Given the description of an element on the screen output the (x, y) to click on. 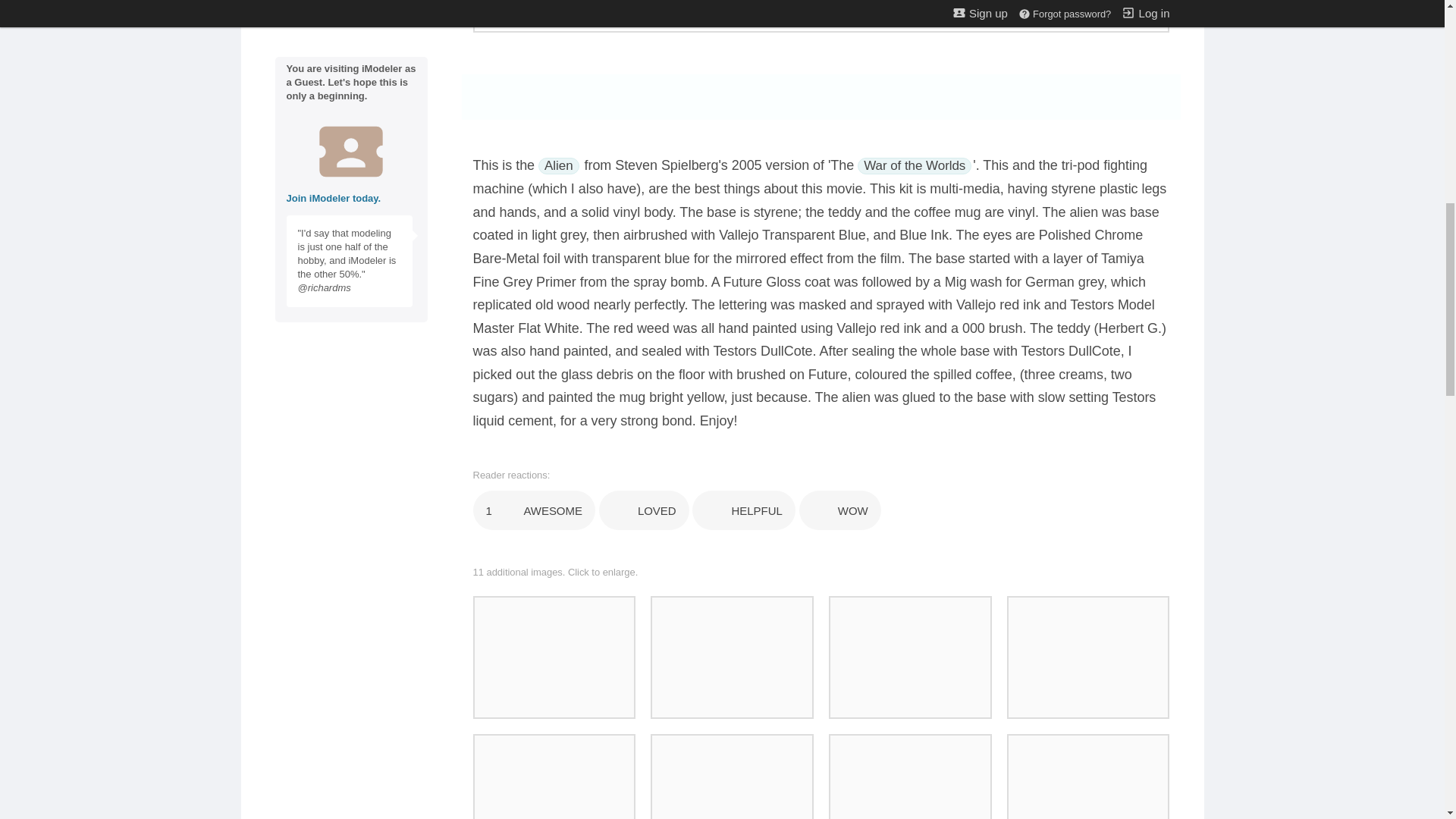
1  AWESOME (534, 509)
Amazing! (839, 509)
Great effort! (534, 509)
LOVED (643, 509)
I'm fond of this (643, 509)
Alien (558, 166)
War of the Worlds (914, 166)
I learned something! (743, 509)
WOW (839, 509)
HELPFUL (743, 509)
Click for the Alien database at iModeler (558, 166)
Click for the War of the Worlds database at iModeler (914, 166)
